Given the description of an element on the screen output the (x, y) to click on. 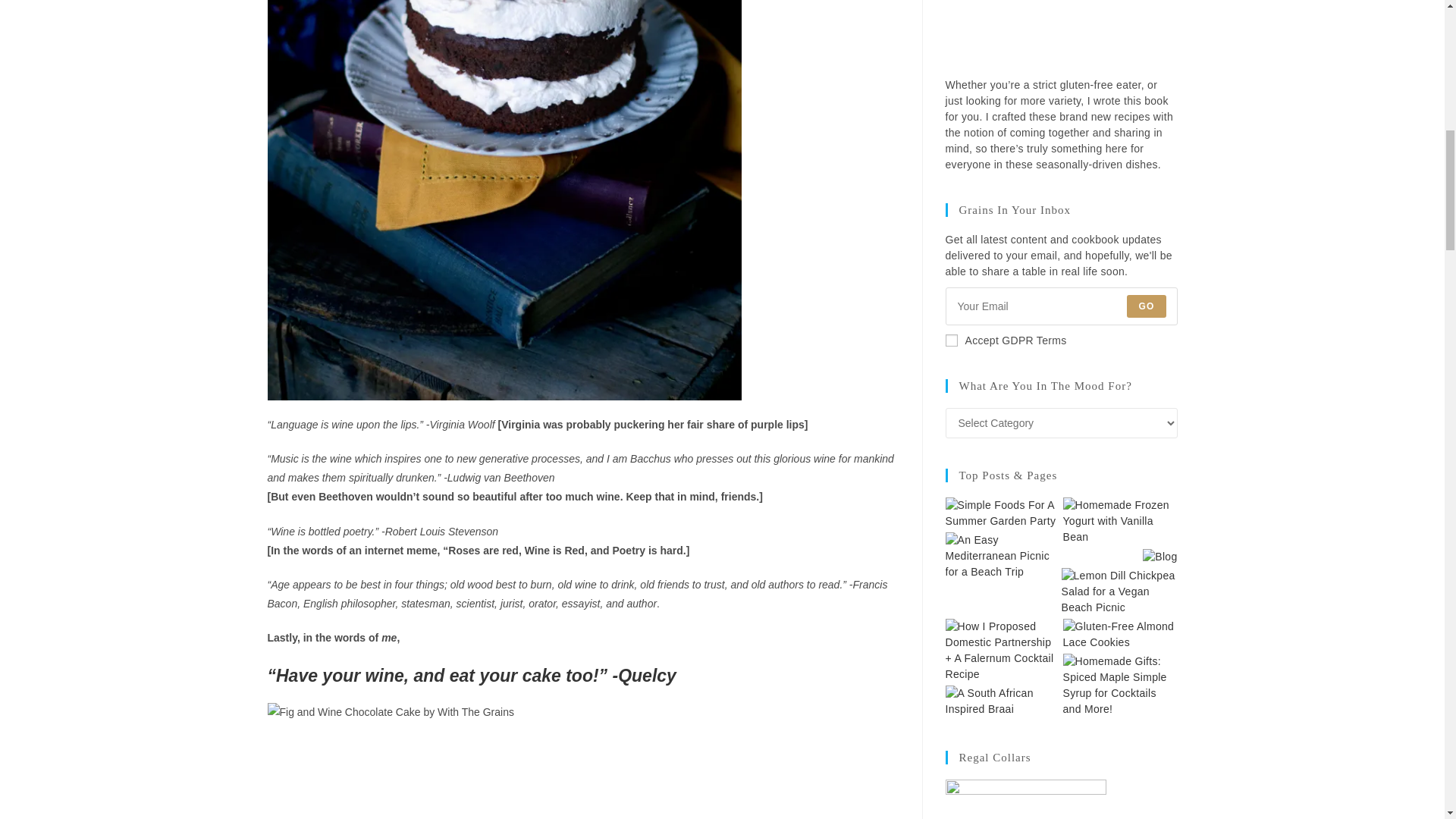
Blog (1159, 556)
Gluten-Free Almond Lace Cookies (1119, 634)
Simple Foods For A Summer Garden Party (1001, 513)
Lemon Dill Chickpea Salad for a Vegan Beach Picnic (1118, 591)
Homemade Frozen Yogurt with Vanilla Bean (1119, 521)
1 (950, 340)
An Easy Mediterranean Picnic for a Beach Trip (1001, 555)
